Given the description of an element on the screen output the (x, y) to click on. 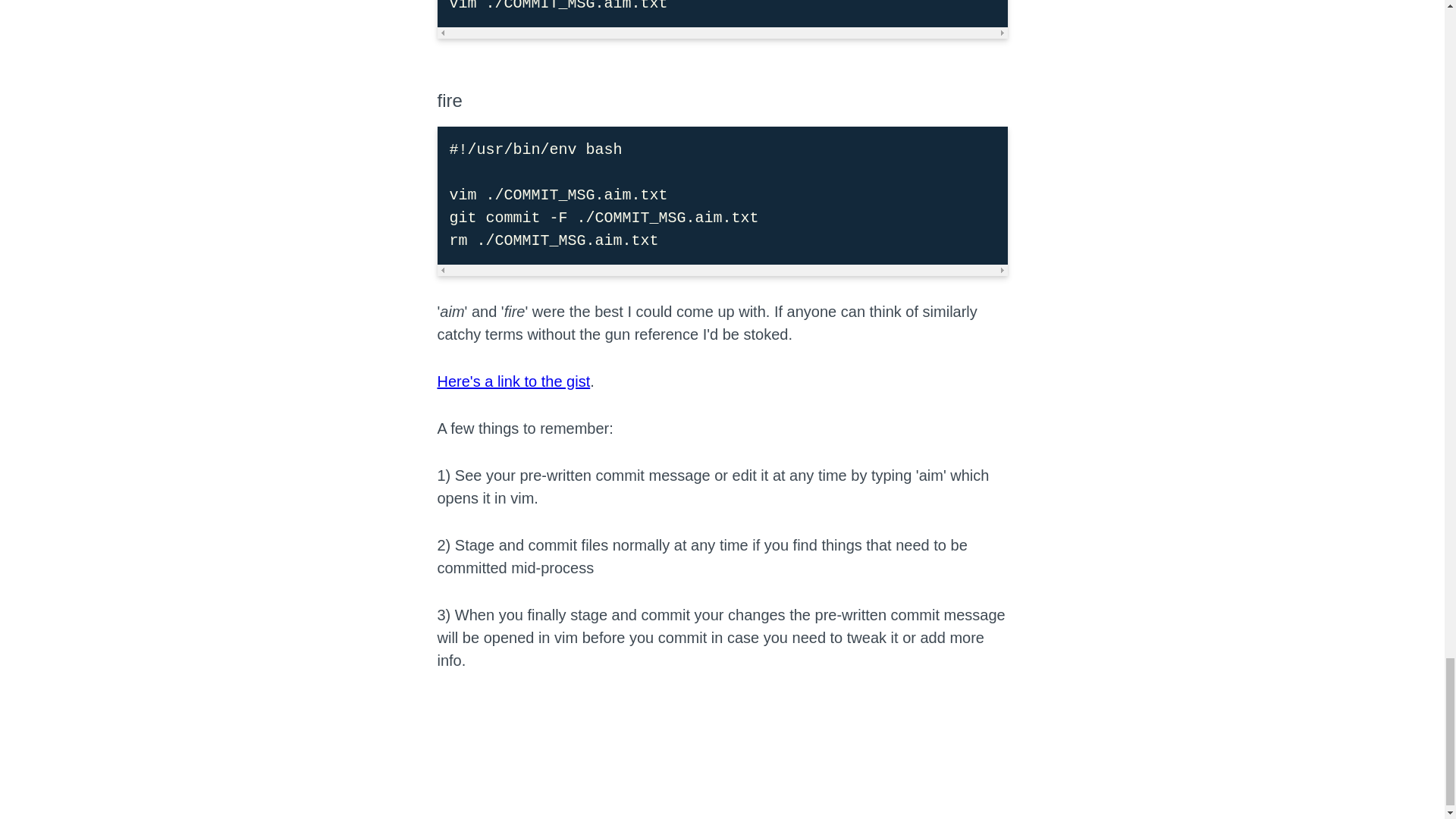
Here's a link to the gist (512, 381)
